Given the description of an element on the screen output the (x, y) to click on. 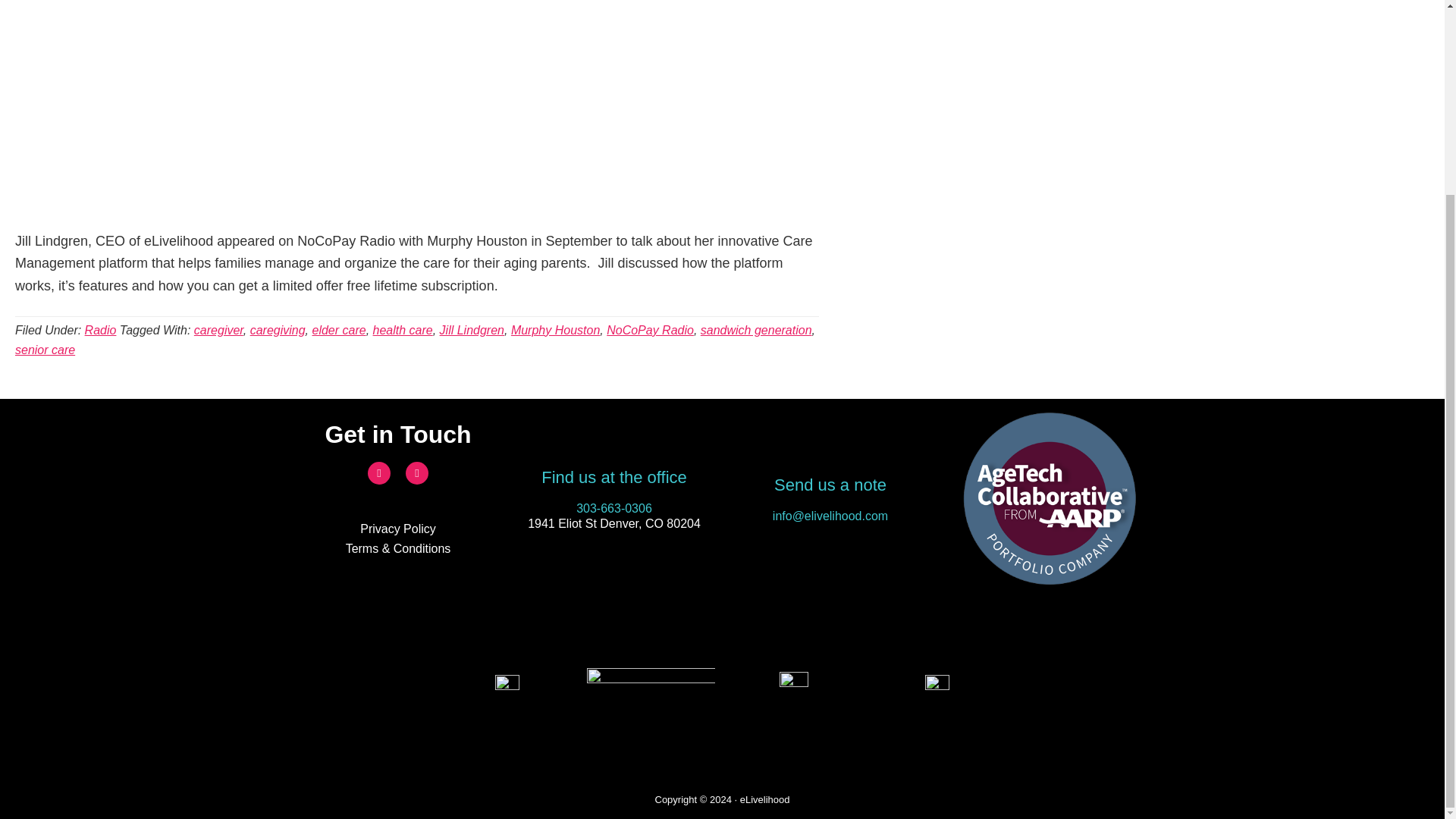
Privacy Policy (397, 528)
NoCoPay Radio (650, 329)
Jill Lindgren (471, 329)
senior care (44, 349)
Radio (100, 329)
health care (402, 329)
caregiver (218, 329)
caregiving (277, 329)
Murphy Houston (555, 329)
sandwich generation (756, 329)
